Given the description of an element on the screen output the (x, y) to click on. 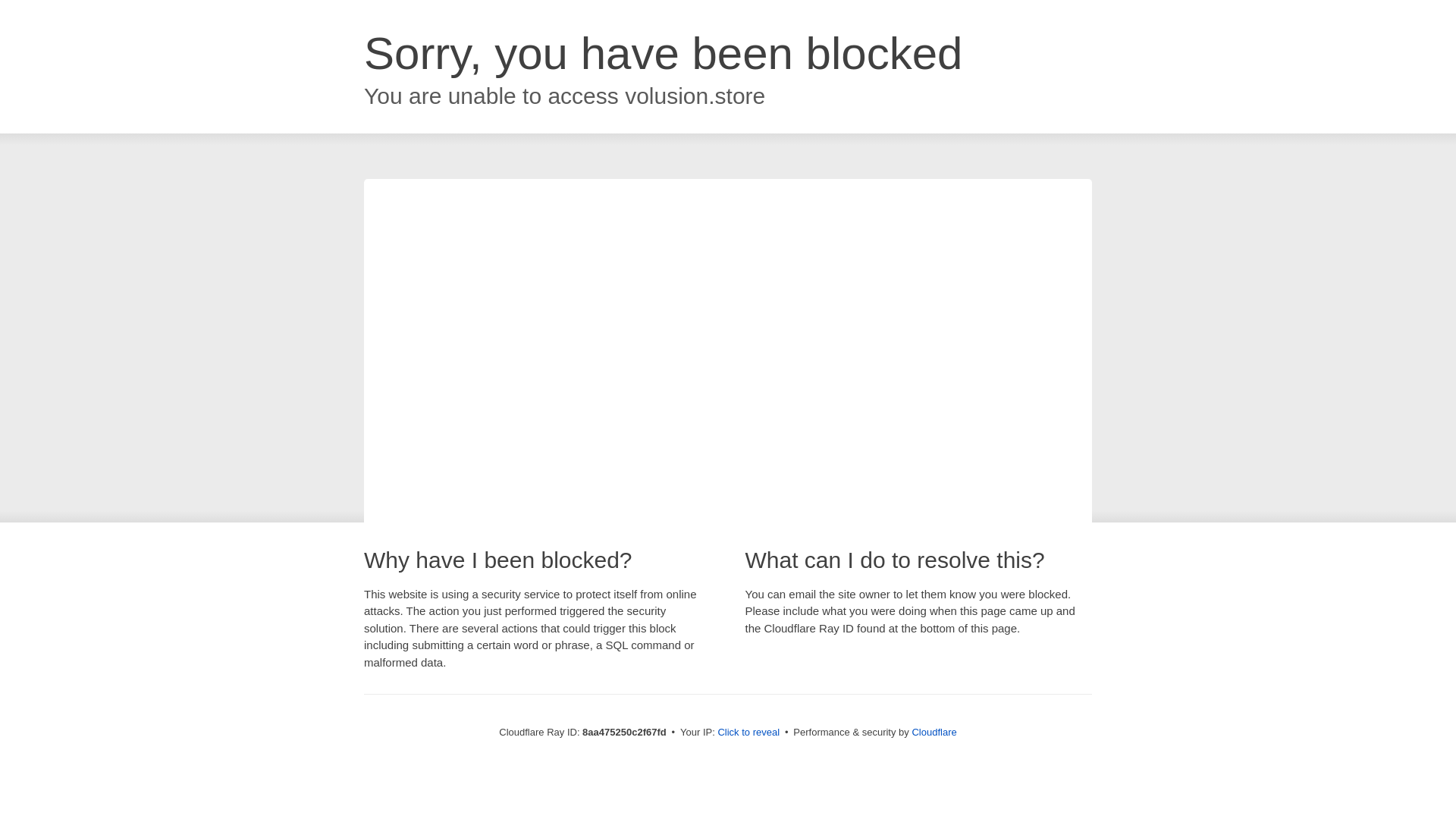
Click to reveal (747, 732)
Cloudflare (933, 731)
